Given the description of an element on the screen output the (x, y) to click on. 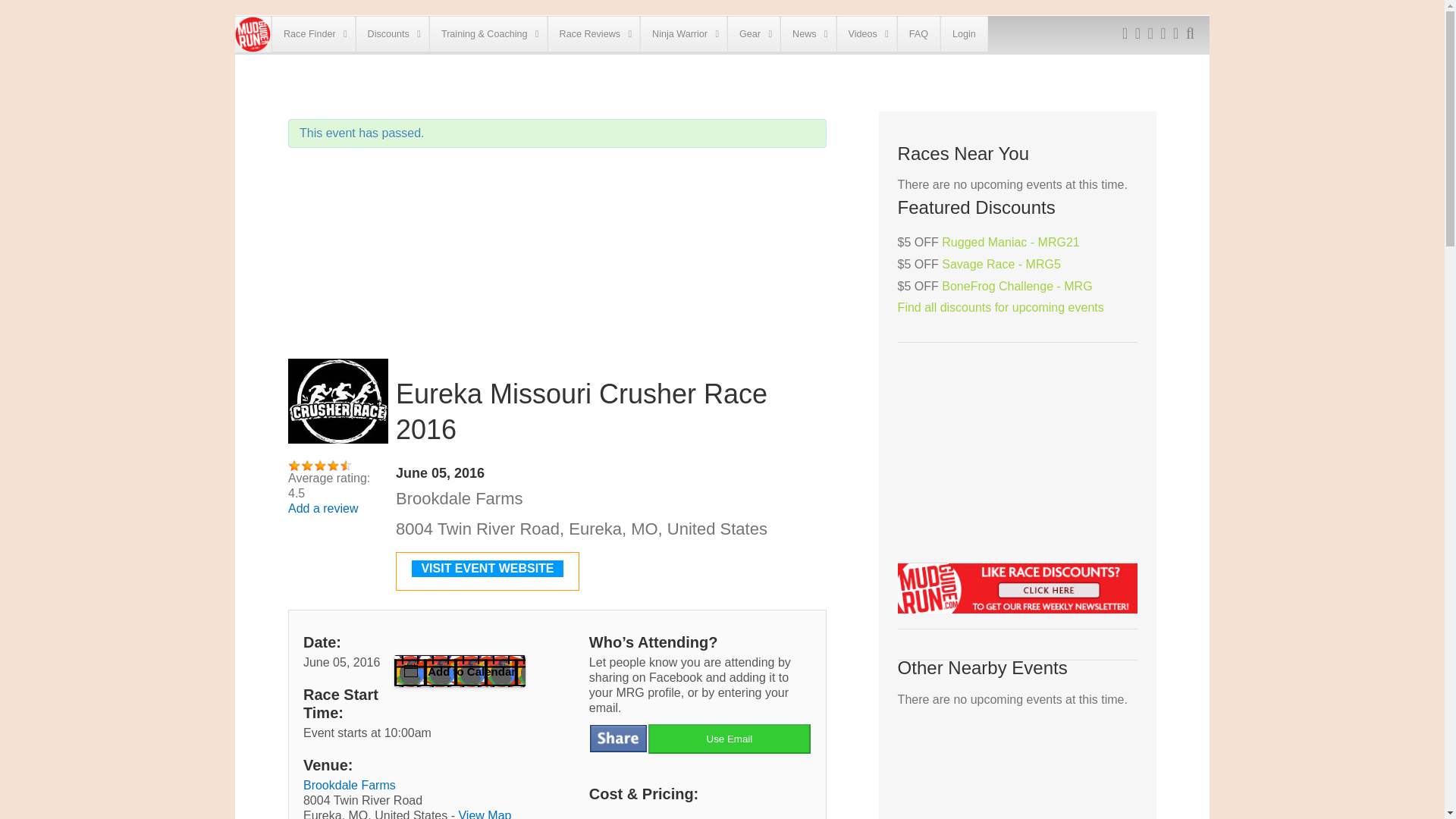
Brookdale Farms (349, 784)
View Map (484, 814)
Race Finder (312, 33)
